Given the description of an element on the screen output the (x, y) to click on. 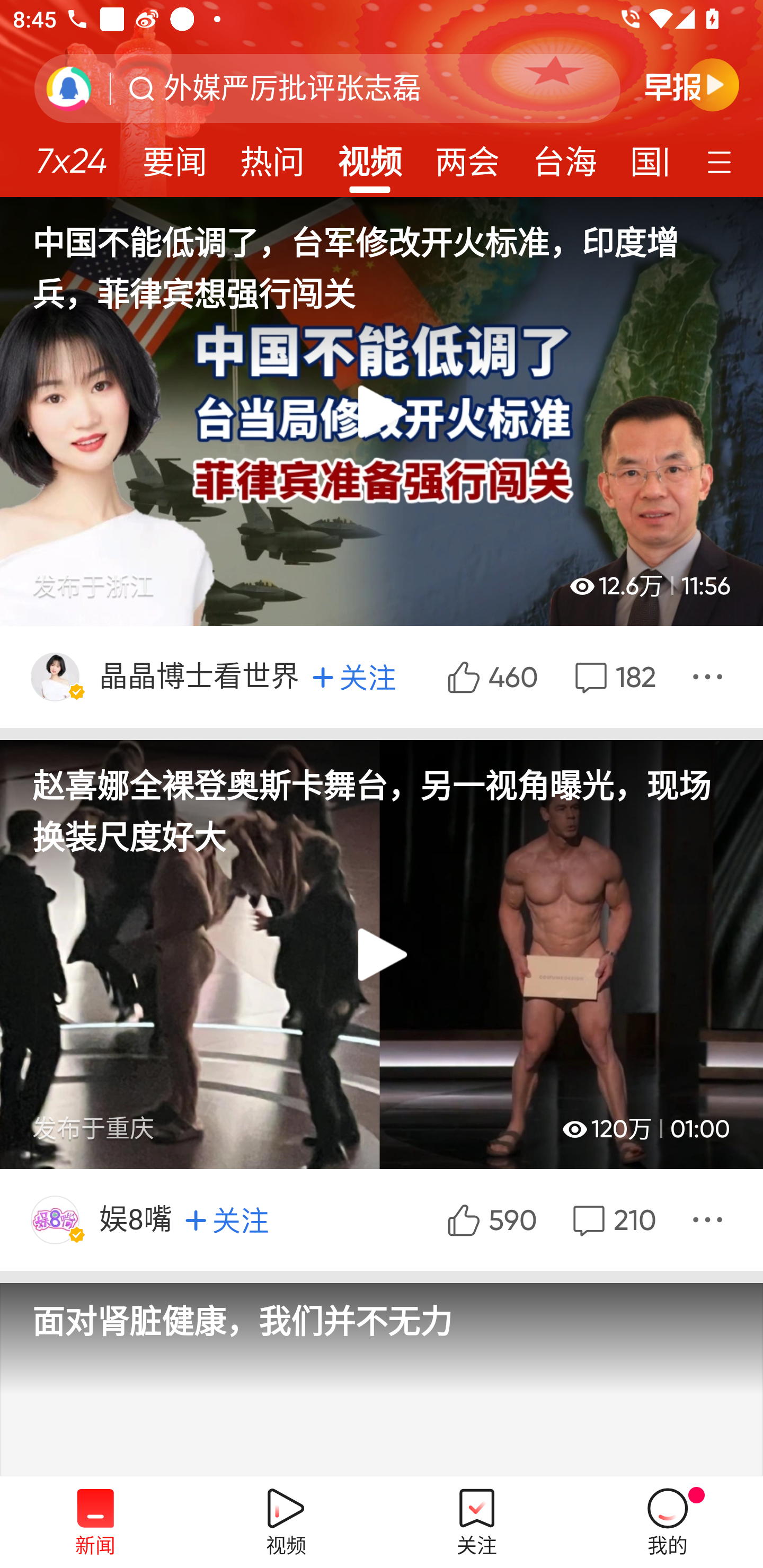
腾讯新闻 (381, 98)
早晚报 (691, 84)
刷新 (68, 88)
外媒严厉批评张志磊 (292, 88)
7x24 (70, 154)
要闻 (174, 155)
热问 (272, 155)
视频 (369, 155)
两会 (466, 155)
台海 (564, 155)
 定制频道 (721, 160)
中国不能低调了，台军修改开火标准，印度增兵，菲律宾想强行闯关 (381, 256)
460赞 (491, 676)
评论  182 (613, 676)
分享  (709, 676)
晶晶博士看世界 (200, 676)
关注 (353, 677)
播放,赵喜娜全裸登奥斯卡舞台，另一视角曝光，现场换装尺度好大 发布于重庆  120万 01:00 (381, 954)
赵喜娜全裸登奥斯卡舞台，另一视角曝光，现场换装尺度好大 (381, 799)
590赞 (489, 1219)
评论  210 (612, 1219)
分享  (709, 1219)
娱8嘴 (137, 1219)
关注 (226, 1219)
面对肾脏健康，我们并不无力 (381, 1337)
